Given the description of an element on the screen output the (x, y) to click on. 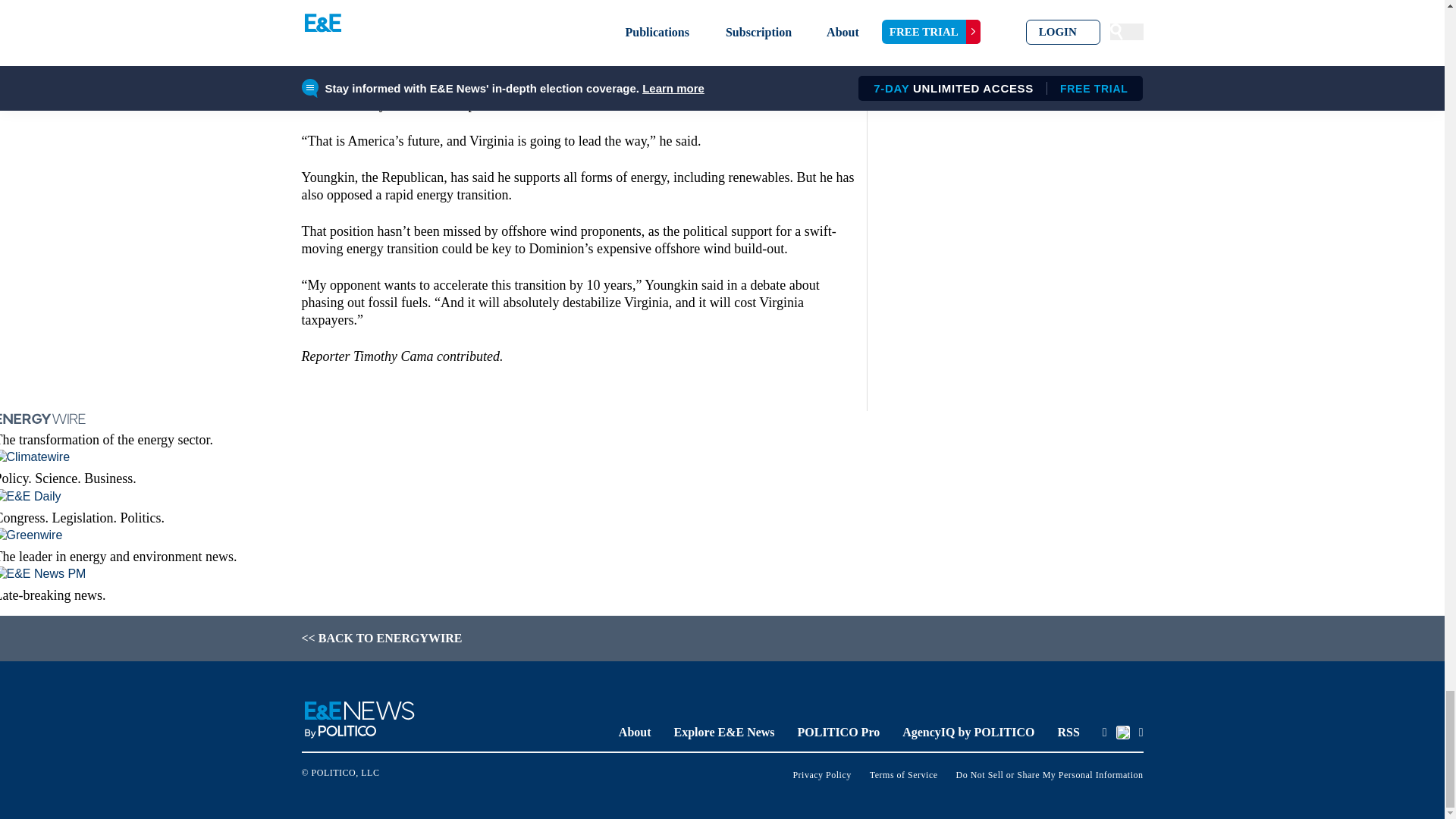
Policy. Science. Business. (417, 467)
RSS (1067, 731)
The leader in energy and environment news. (417, 546)
POLITICO Pro (838, 731)
Congress. Legislation. Politics. (417, 506)
The transformation of the energy sector. (417, 429)
About (634, 731)
AgencyIQ by POLITICO (967, 731)
Late-breaking news. (417, 584)
